Given the description of an element on the screen output the (x, y) to click on. 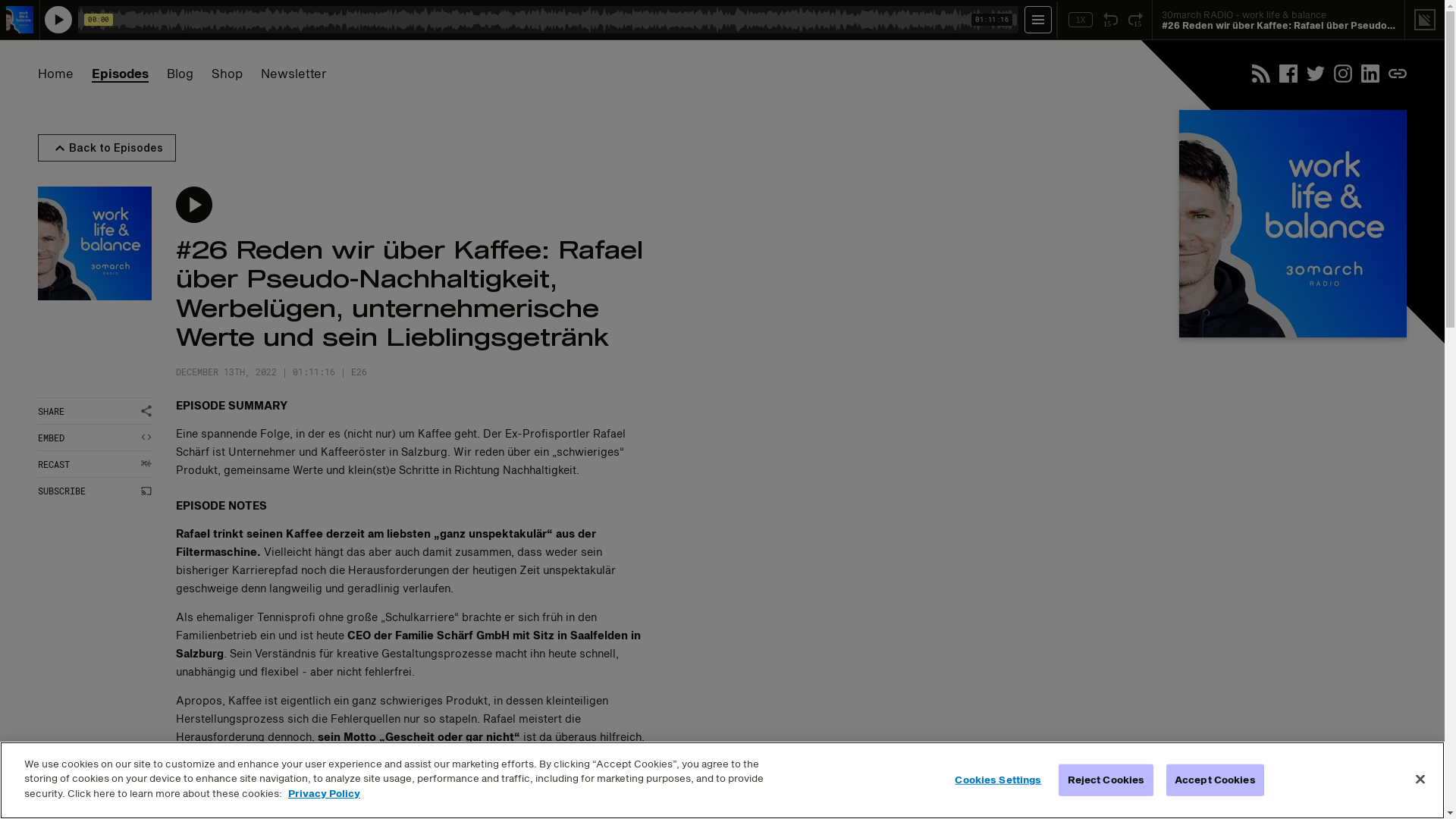
Shop Element type: text (226, 73)
Instagram Element type: hover (1342, 73)
1X Element type: text (1080, 19)
Linkedin Element type: hover (1370, 73)
Blog Element type: text (179, 73)
RECAST Element type: text (94, 464)
Back to Episodes Element type: text (106, 147)
Facebook Element type: hover (1288, 73)
15 Element type: text (1110, 19)
Newsletter Element type: text (293, 73)
Episodes Element type: text (119, 73)
Accept Cookies Element type: text (1215, 780)
SHARE Element type: text (94, 411)
15 Element type: text (1135, 19)
Twitter Element type: hover (1315, 73)
Website Element type: hover (1397, 73)
SUBSCRIBE Element type: text (94, 490)
Reject Cookies Element type: text (1105, 780)
Cookies Settings Element type: text (997, 780)
EMBED Element type: text (94, 437)
RSS Element type: hover (1261, 73)
Home Element type: text (55, 73)
Privacy Policy Element type: text (324, 794)
